Given the description of an element on the screen output the (x, y) to click on. 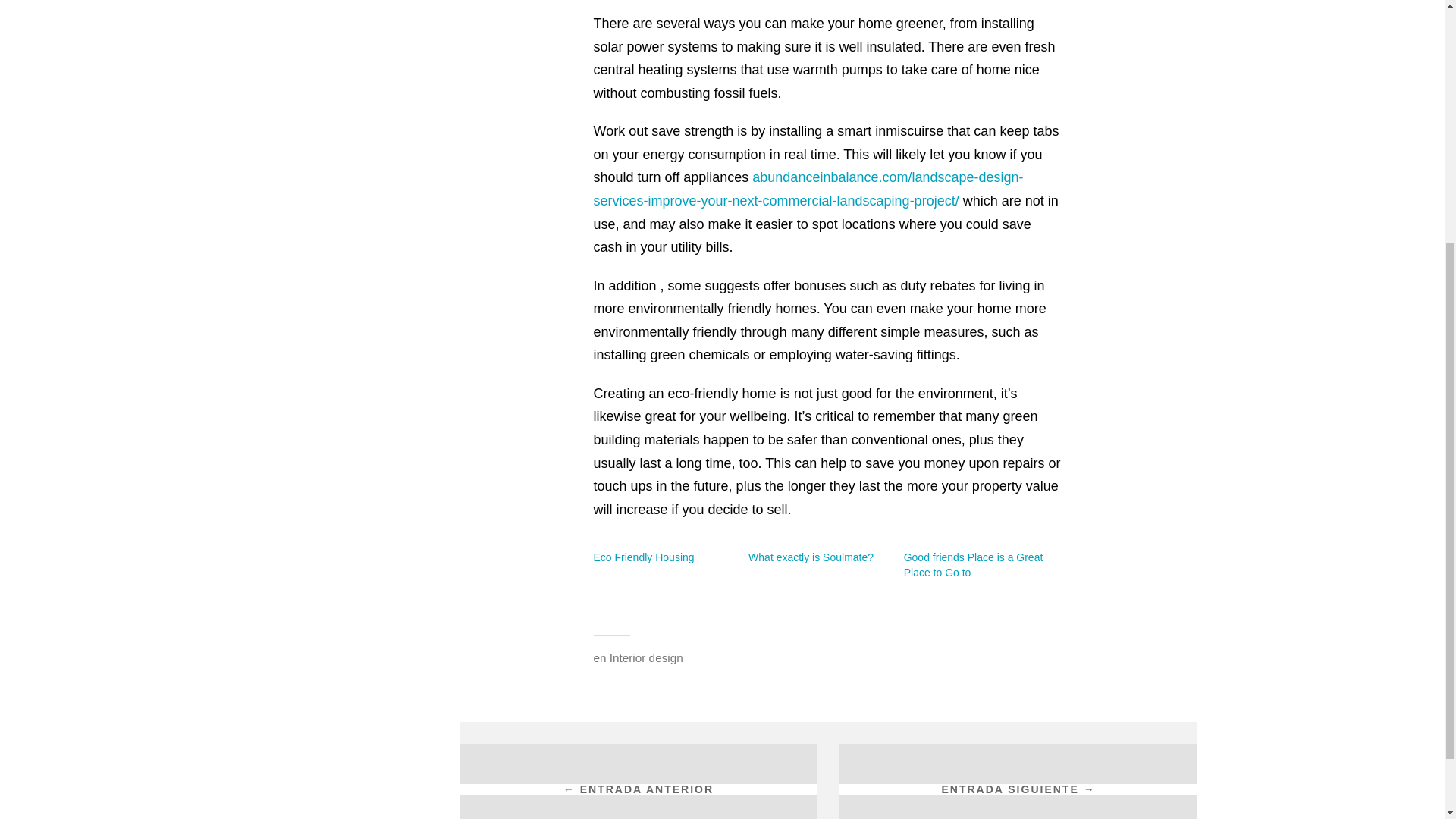
Eco Friendly Housing (643, 557)
Eco Friendly Housing (643, 557)
What exactly is Soulmate? (810, 557)
What exactly is Soulmate? (810, 557)
Good friends Place is a Great Place to Go to (973, 564)
Good friends Place is a Great Place to Go to (973, 564)
Interior design (646, 657)
